Given the description of an element on the screen output the (x, y) to click on. 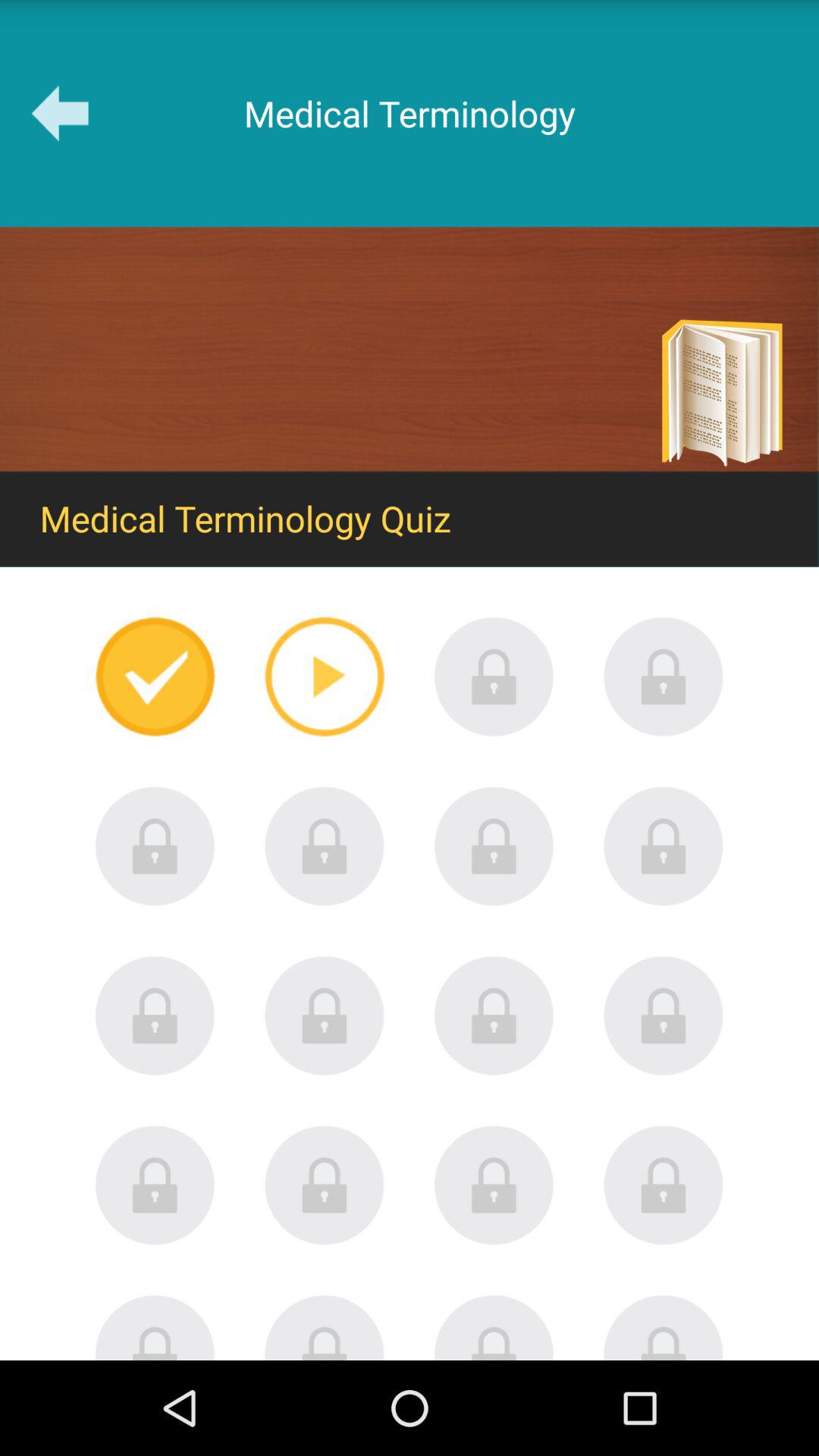
select locked medical terminology quiz (324, 1184)
